Given the description of an element on the screen output the (x, y) to click on. 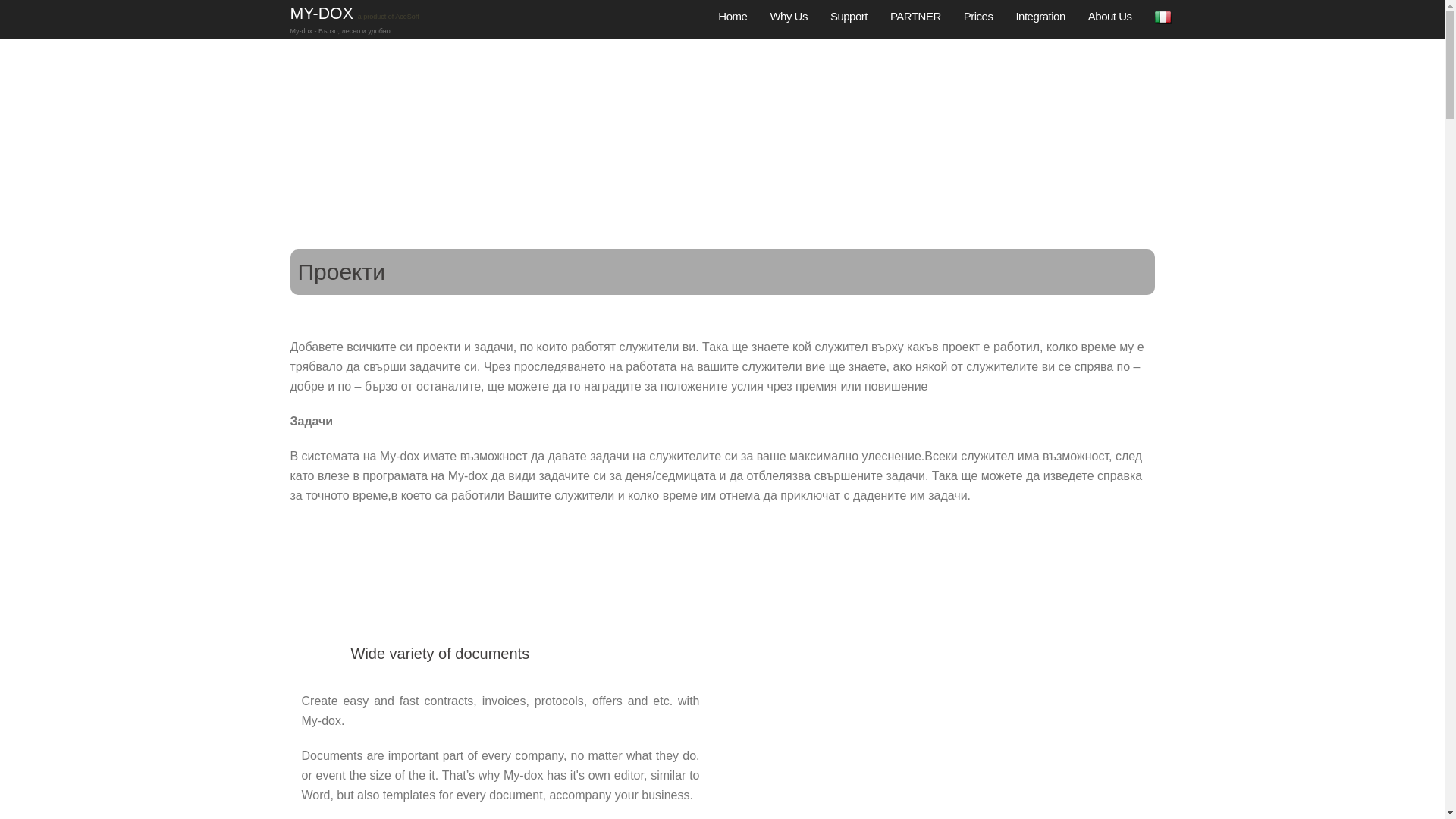
Integration (1039, 2)
Prices (977, 0)
Back to Home (322, 13)
About Us (1109, 2)
